Given the description of an element on the screen output the (x, y) to click on. 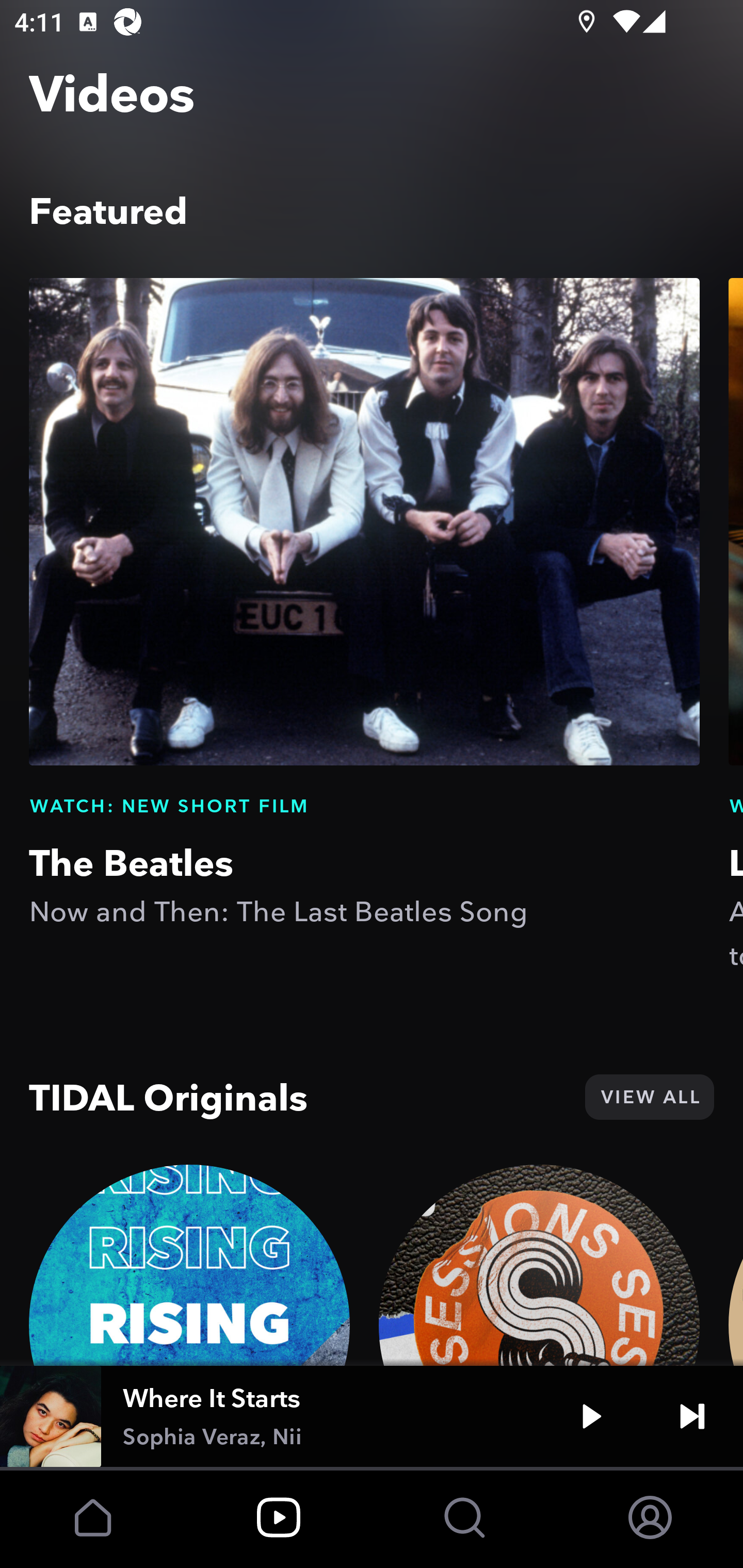
VIEW ALL (649, 1096)
Where It Starts Sophia Veraz, Nii Play (371, 1416)
Play (590, 1416)
